Given the description of an element on the screen output the (x, y) to click on. 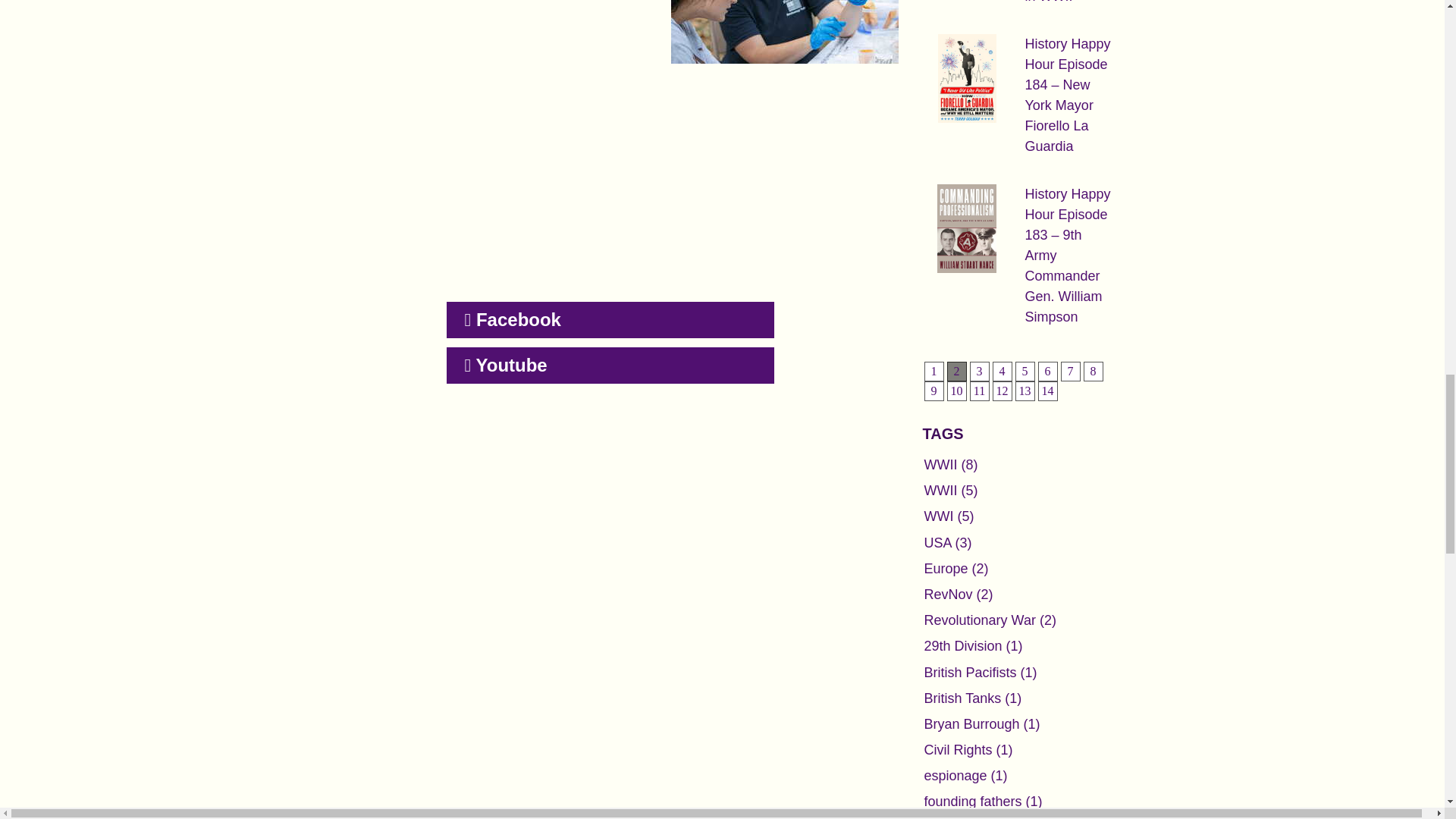
Youtube (609, 365)
Facebook (609, 320)
